Given the description of an element on the screen output the (x, y) to click on. 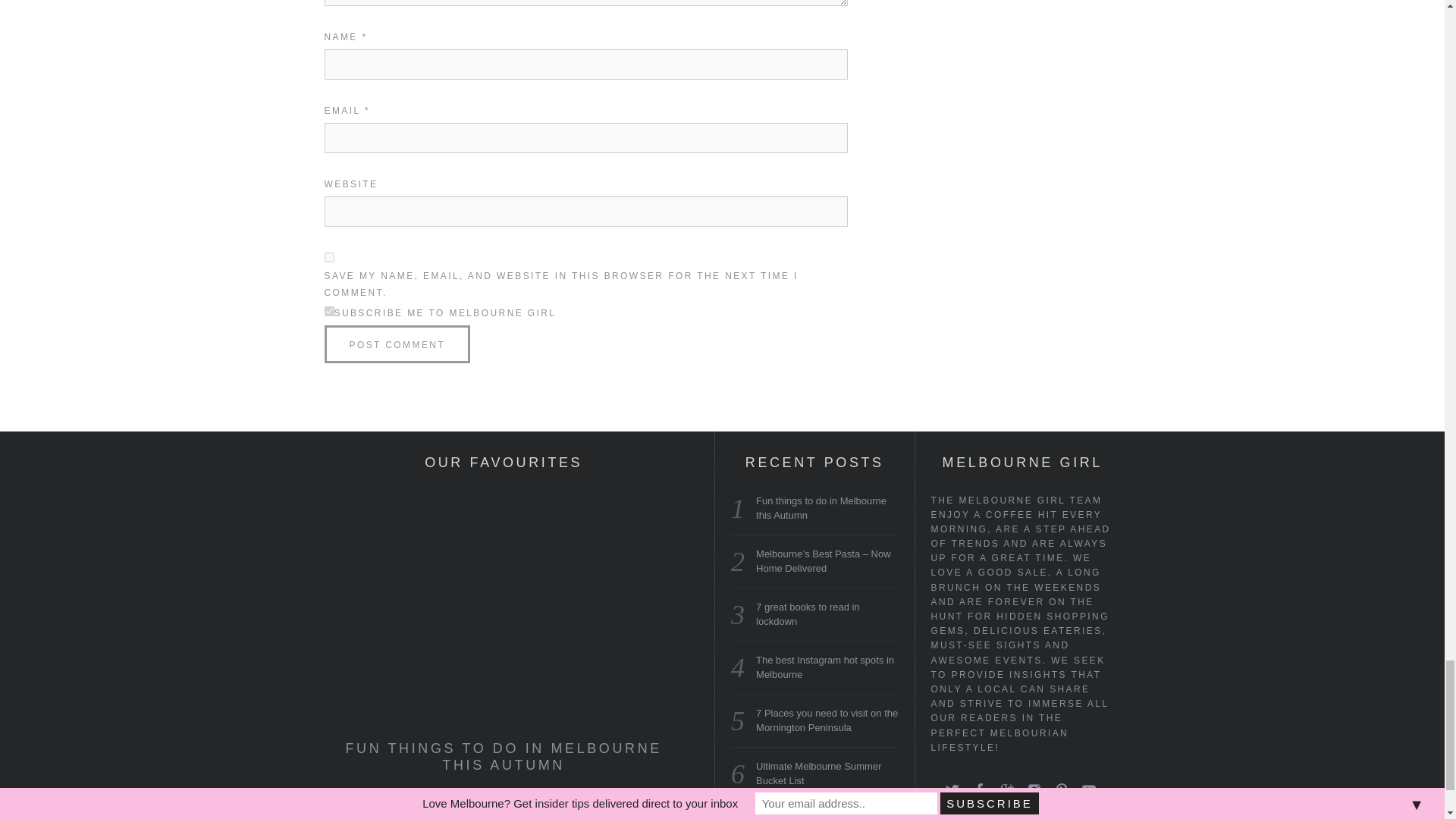
1 (329, 311)
Post Comment (397, 344)
yes (329, 257)
